Given the description of an element on the screen output the (x, y) to click on. 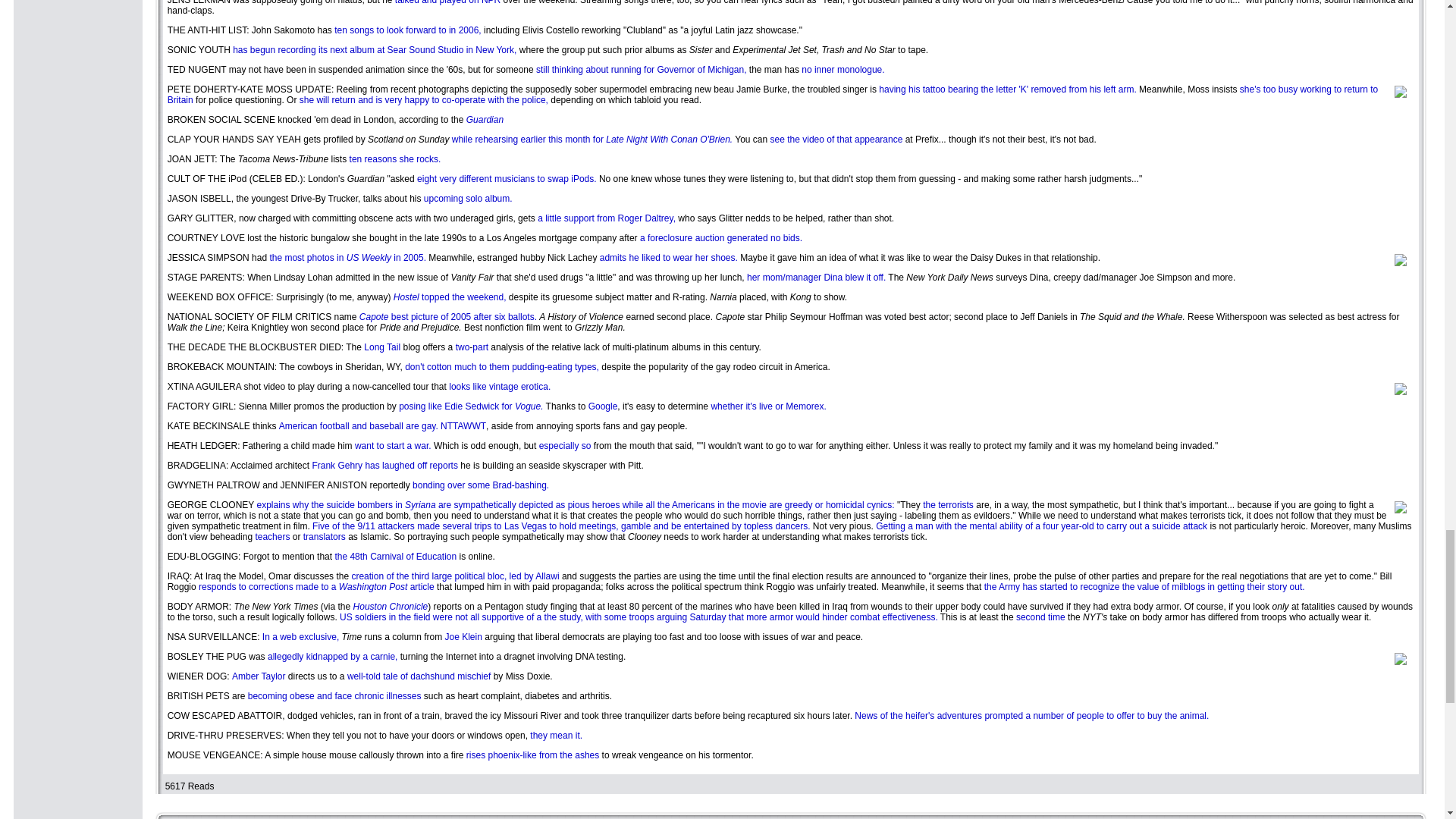
Not that there's anything wrong with that (463, 425)
Google (602, 406)
